Given the description of an element on the screen output the (x, y) to click on. 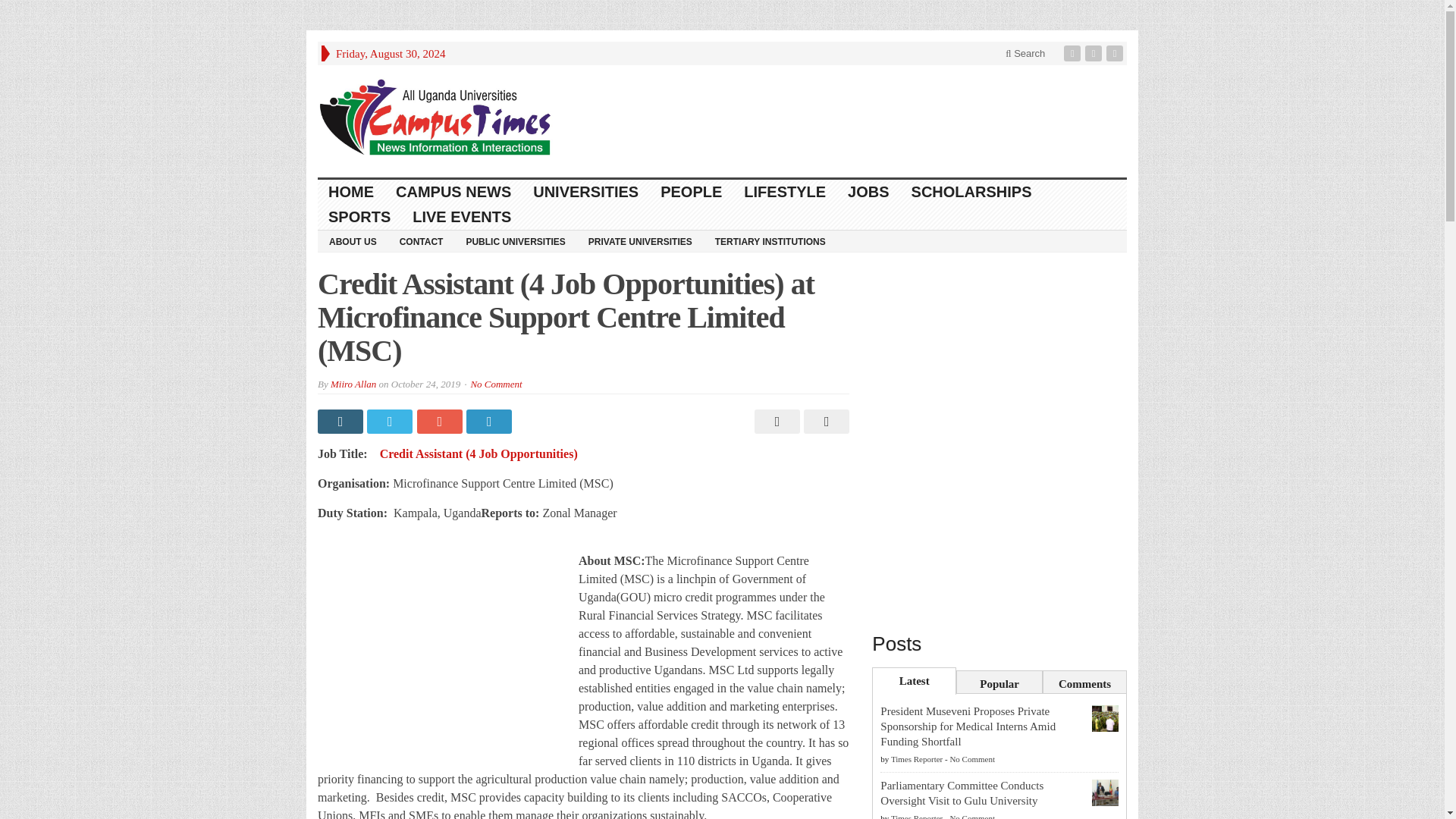
HOME (351, 191)
PEOPLE (691, 191)
Site feed (1115, 53)
LIFESTYLE (785, 191)
UNIVERSITIES (585, 191)
Search (1024, 53)
Twitter (1094, 53)
CAMPUS NEWS (453, 191)
Facebook (1073, 53)
Advertisement (444, 645)
